Given the description of an element on the screen output the (x, y) to click on. 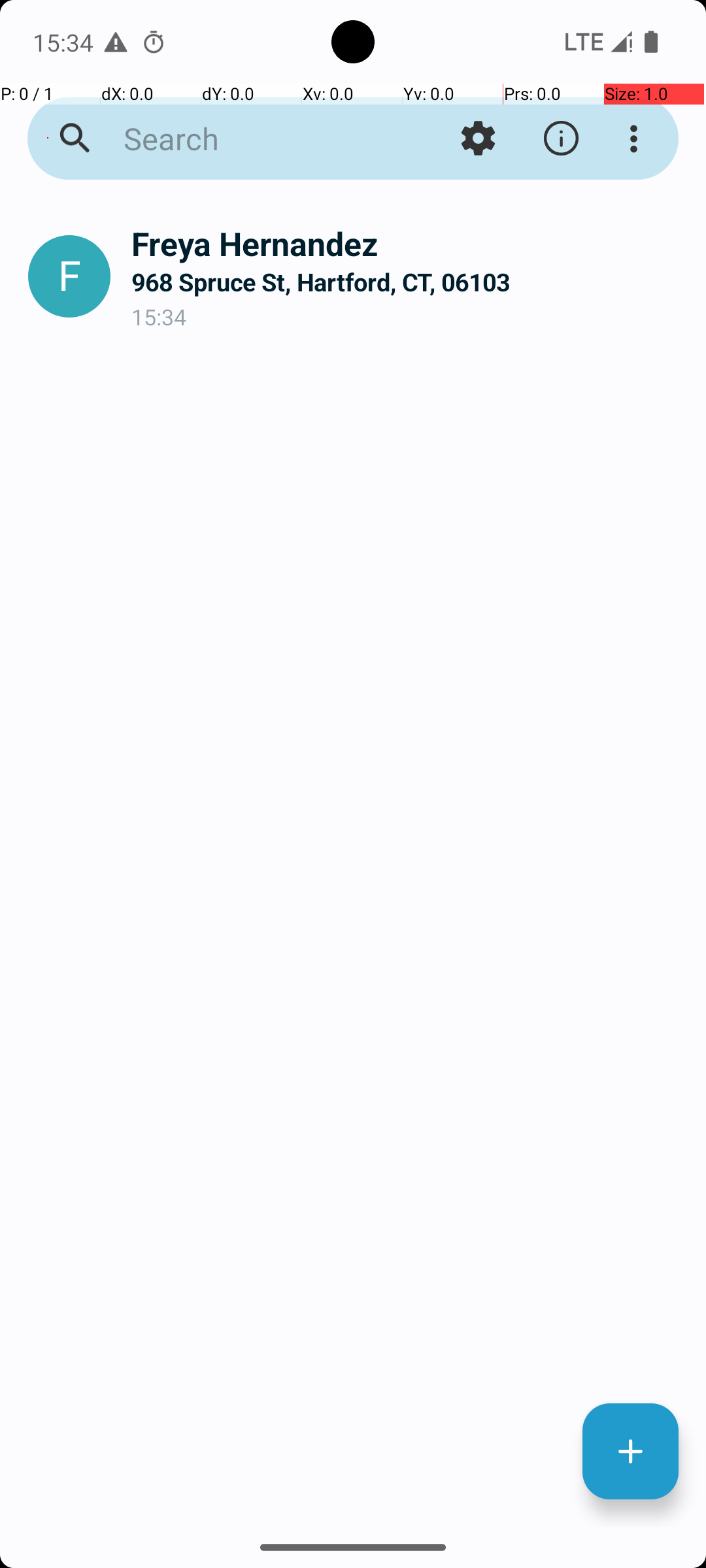
Freya Hernandez Element type: android.widget.TextView (408, 242)
968 Spruce St, Hartford, CT, 06103 Element type: android.widget.TextView (408, 281)
